Given the description of an element on the screen output the (x, y) to click on. 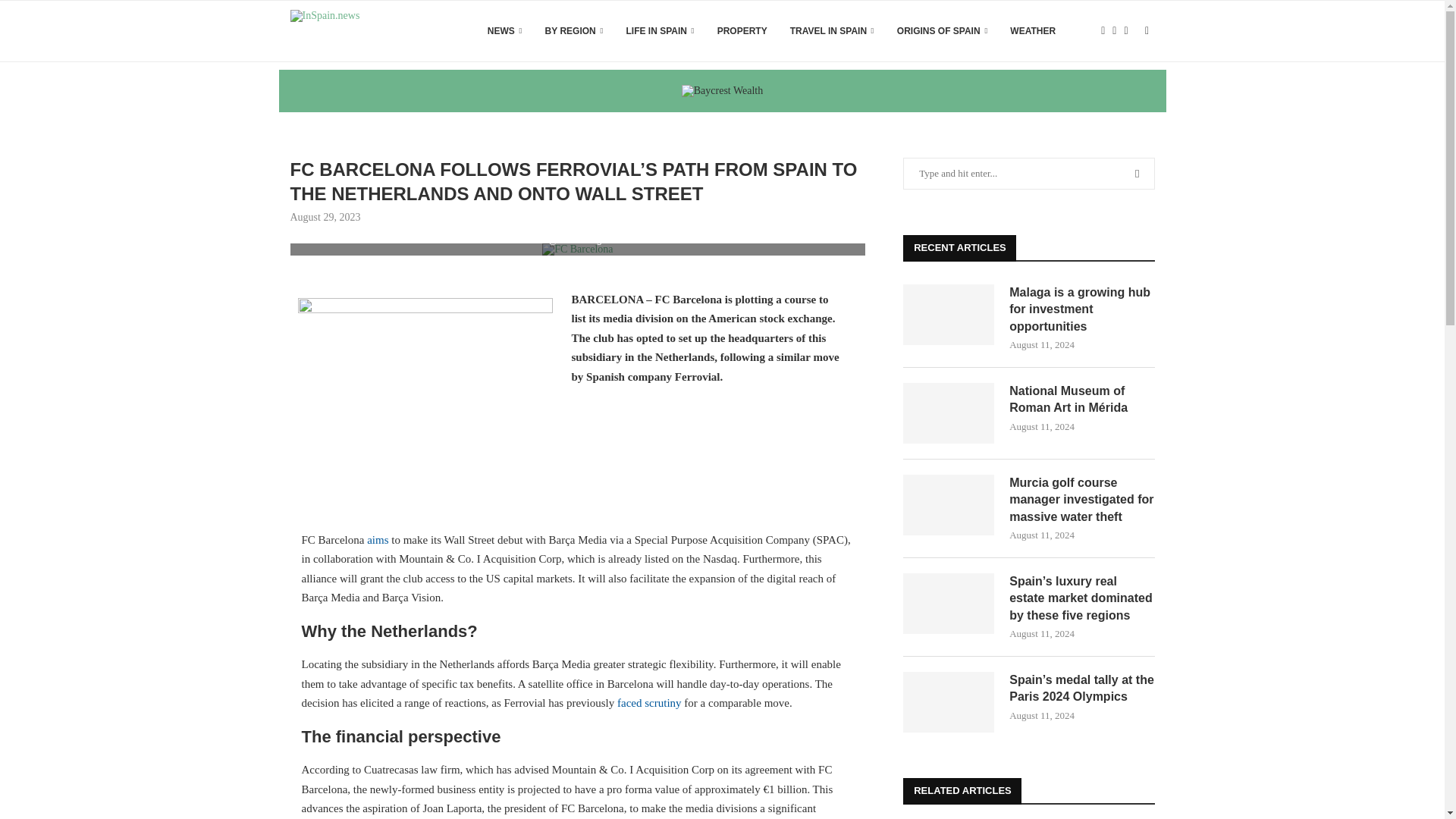
BY REGION (574, 30)
Malaga is a growing hub for investment opportunities (1081, 309)
TRAVEL IN SPAIN (832, 30)
Malaga is a growing hub for investment opportunities (948, 314)
LIFE IN SPAIN (660, 30)
aims (377, 539)
faced scrutiny (649, 702)
ORIGINS OF SPAIN (942, 30)
